Given the description of an element on the screen output the (x, y) to click on. 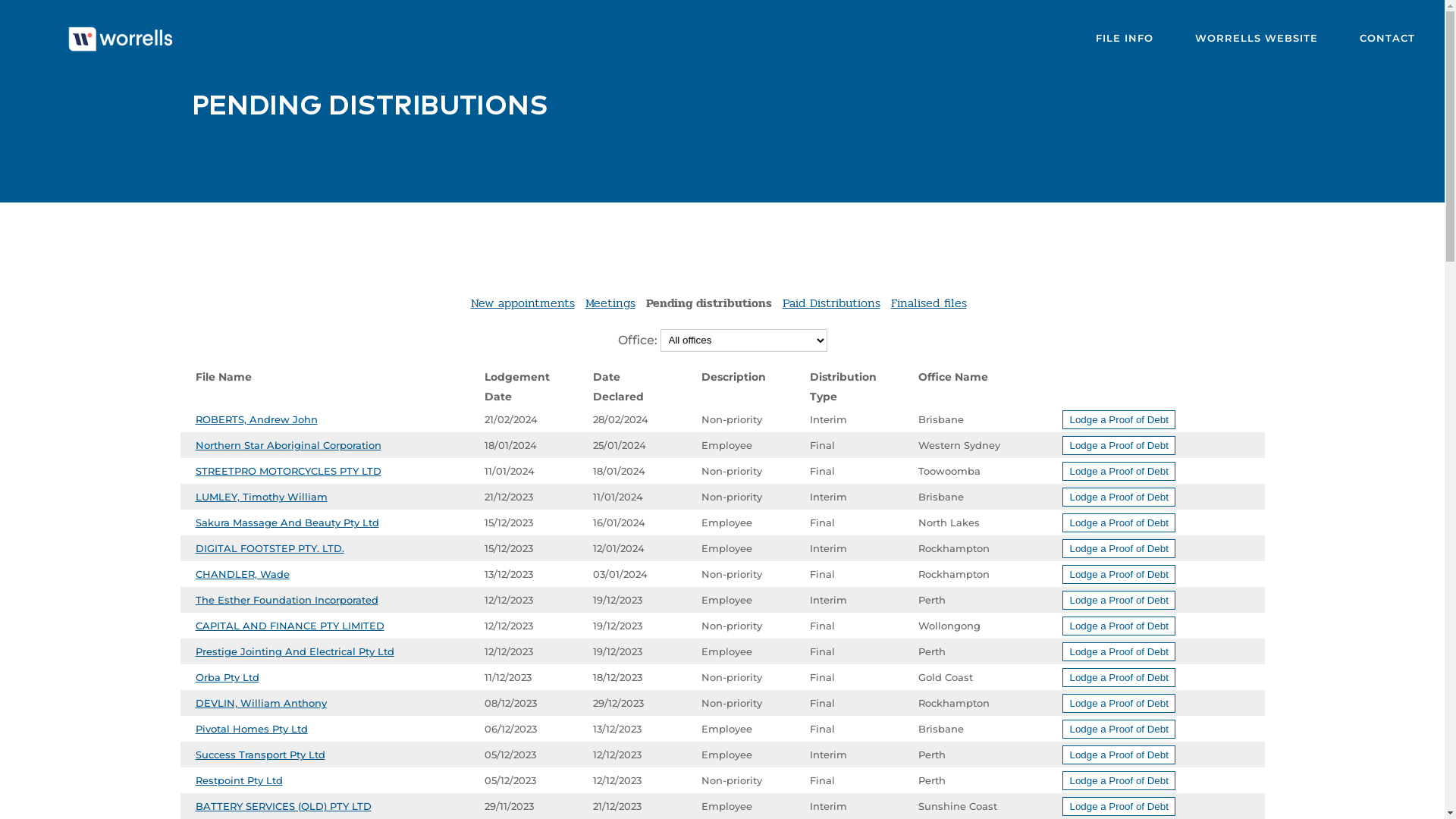
Lodge a Proof of Debt Element type: text (1118, 419)
Lodge a Proof of Debt Element type: text (1118, 702)
BATTERY SERVICES (QLD) PTY LTD Element type: text (283, 806)
Paid Distributions Element type: text (831, 302)
Lodge a Proof of Debt Element type: text (1118, 754)
Lodge a Proof of Debt Element type: text (1118, 806)
Lodge a Proof of Debt Element type: text (1118, 445)
New appointments Element type: text (522, 302)
Lodge a Proof of Debt Element type: text (1118, 702)
Lodge a Proof of Debt Element type: text (1118, 599)
Lodge a Proof of Debt Element type: text (1118, 754)
Lodge a Proof of Debt Element type: text (1118, 625)
Meetings Element type: text (610, 302)
Northern Star Aboriginal Corporation Element type: text (288, 445)
Lodge a Proof of Debt Element type: text (1118, 548)
Restpoint Pty Ltd Element type: text (238, 780)
Lodge a Proof of Debt Element type: text (1118, 522)
Sakura Massage And Beauty Pty Ltd Element type: text (287, 522)
Lodge a Proof of Debt Element type: text (1118, 780)
STREETPRO MOTORCYCLES PTY LTD Element type: text (288, 470)
Lodge a Proof of Debt Element type: text (1118, 419)
Lodge a Proof of Debt Element type: text (1118, 573)
Lodge a Proof of Debt Element type: text (1118, 470)
FILE INFO Element type: text (1124, 37)
Finalised files Element type: text (928, 302)
Success Transport Pty Ltd Element type: text (260, 754)
Lodge a Proof of Debt Element type: text (1118, 522)
Lodge a Proof of Debt Element type: text (1118, 677)
Lodge a Proof of Debt Element type: text (1118, 470)
Lodge a Proof of Debt Element type: text (1118, 677)
Pending distributions Element type: text (708, 302)
Lodge a Proof of Debt Element type: text (1118, 625)
WORRELLS WEBSITE Element type: text (1256, 37)
DIGITAL FOOTSTEP PTY. LTD. Element type: text (269, 548)
Lodge a Proof of Debt Element type: text (1118, 651)
Lodge a Proof of Debt Element type: text (1118, 599)
CONTACT Element type: text (1387, 37)
The Esther Foundation Incorporated Element type: text (286, 599)
Lodge a Proof of Debt Element type: text (1118, 496)
CAPITAL AND FINANCE PTY LIMITED Element type: text (289, 625)
Lodge a Proof of Debt Element type: text (1118, 806)
CHANDLER, Wade Element type: text (242, 573)
Pivotal Homes Pty Ltd Element type: text (251, 728)
Lodge a Proof of Debt Element type: text (1118, 496)
DEVLIN, William Anthony Element type: text (260, 702)
Lodge a Proof of Debt Element type: text (1118, 728)
Lodge a Proof of Debt Element type: text (1118, 573)
Lodge a Proof of Debt Element type: text (1118, 548)
Prestige Jointing And Electrical Pty Ltd Element type: text (294, 651)
Lodge a Proof of Debt Element type: text (1118, 780)
Orba Pty Ltd Element type: text (227, 677)
Lodge a Proof of Debt Element type: text (1118, 651)
Lodge a Proof of Debt Element type: text (1118, 728)
Lodge a Proof of Debt Element type: text (1118, 445)
ROBERTS, Andrew John Element type: text (256, 419)
LUMLEY, Timothy William Element type: text (261, 496)
